Given the description of an element on the screen output the (x, y) to click on. 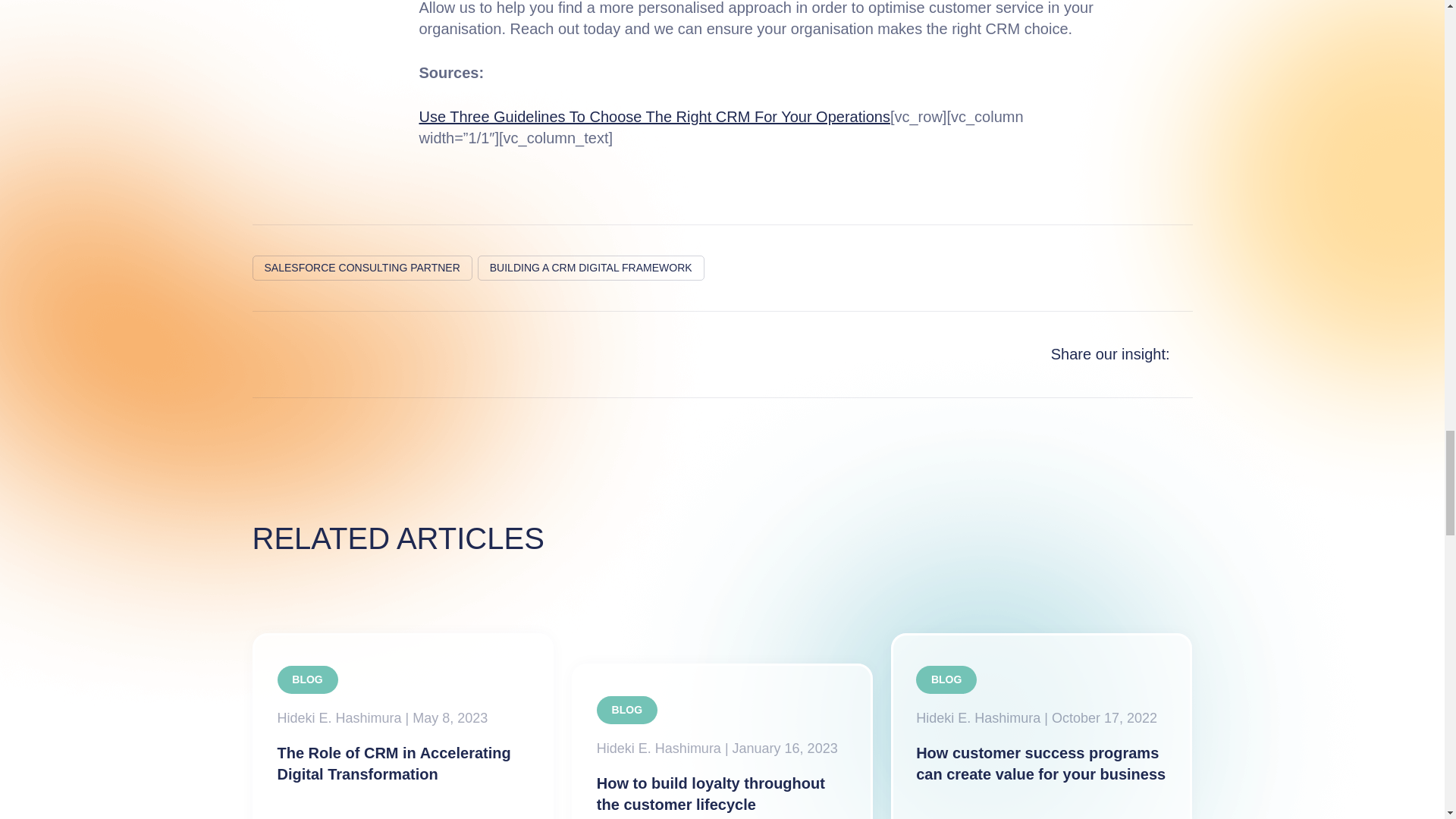
The Role of CRM in Accelerating Digital Transformation (402, 726)
Salesforce Consulting Partner (362, 267)
How to build loyalty throughout the customer lifecycle (722, 741)
Building a CRM Digital Framework (591, 267)
